Given the description of an element on the screen output the (x, y) to click on. 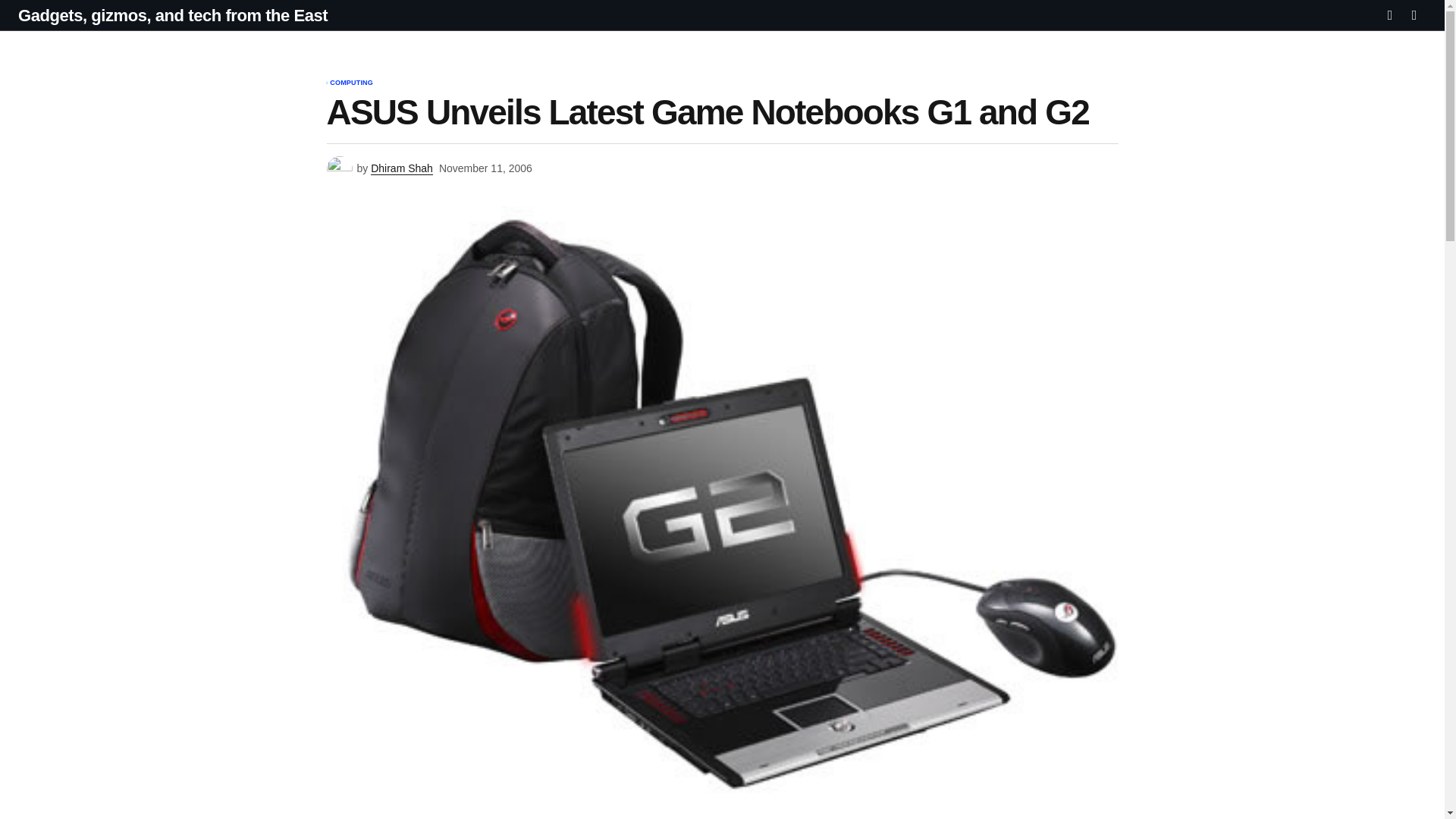
Gadgets, gizmos, and tech from the East (172, 15)
Dhiram Shah (401, 168)
COMPUTING (351, 82)
